Given the description of an element on the screen output the (x, y) to click on. 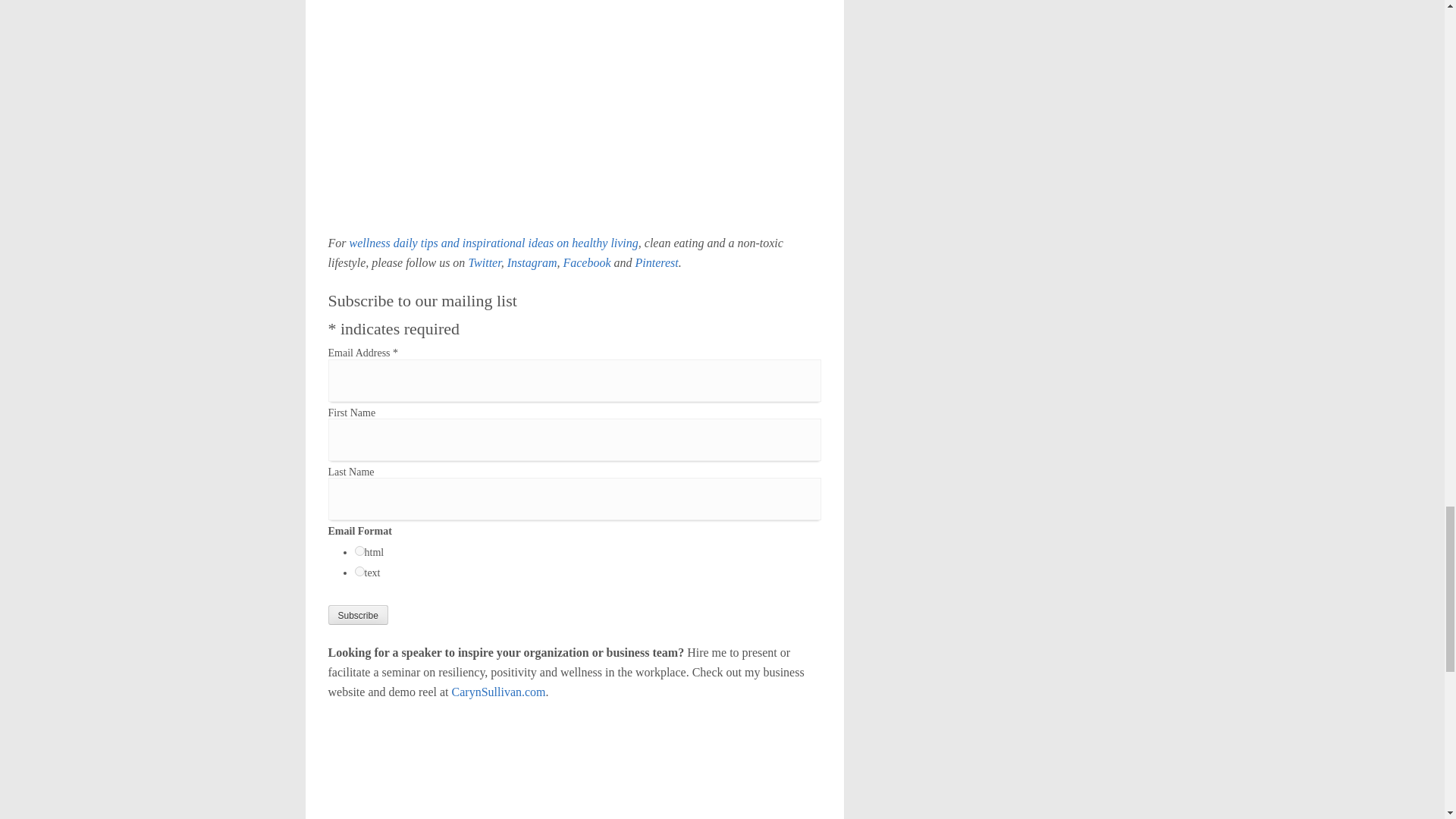
Twitter (483, 262)
Subscribe (357, 614)
html (360, 551)
text (360, 571)
